Given the description of an element on the screen output the (x, y) to click on. 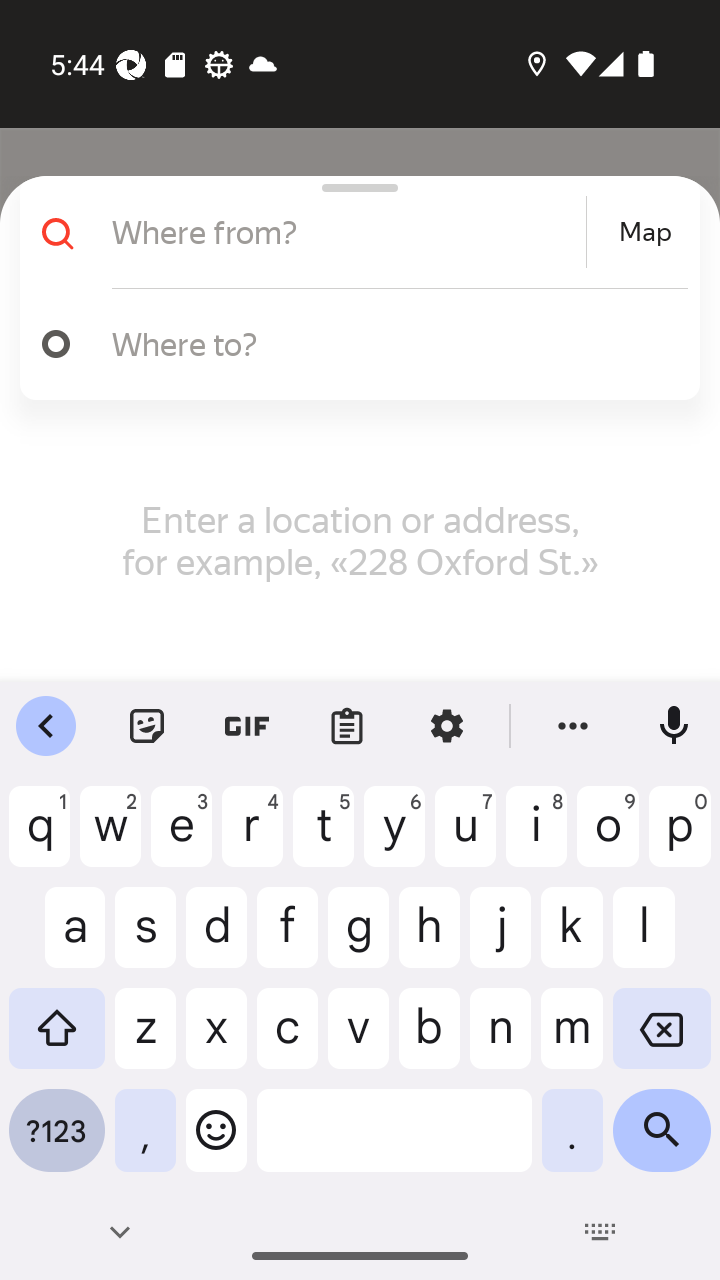
Where from? Map Map (352, 232)
Map (645, 232)
Where from? (346, 232)
Where to? (352, 343)
Where to? (390, 343)
